Given the description of an element on the screen output the (x, y) to click on. 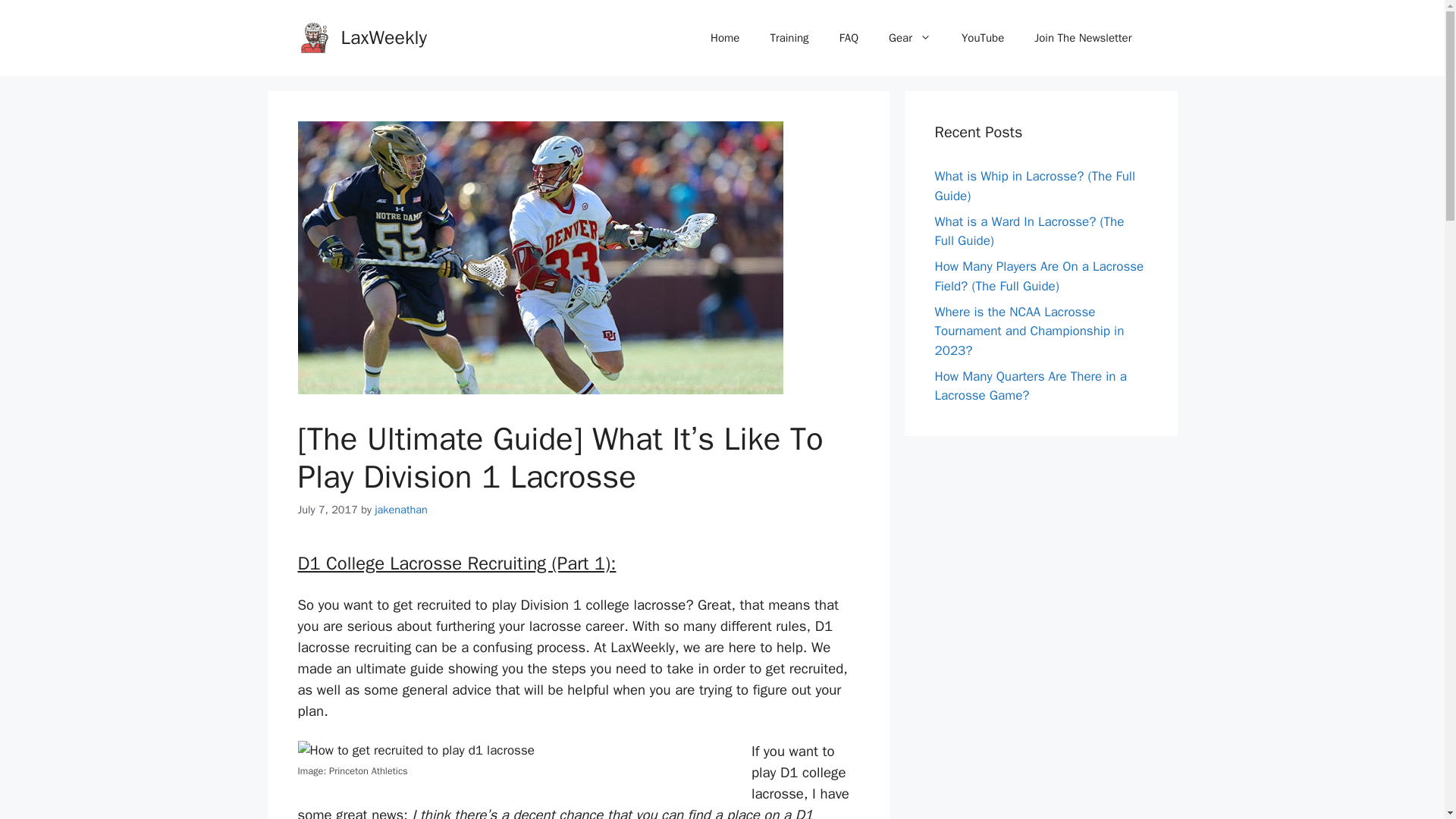
Home (724, 37)
YouTube (982, 37)
How Many Quarters Are There in a Lacrosse Game? (1029, 386)
Join The Newsletter (1083, 37)
FAQ (848, 37)
Gear (909, 37)
jakenathan (400, 509)
View all posts by jakenathan (400, 509)
Training (789, 37)
LaxWeekly (383, 37)
